Given the description of an element on the screen output the (x, y) to click on. 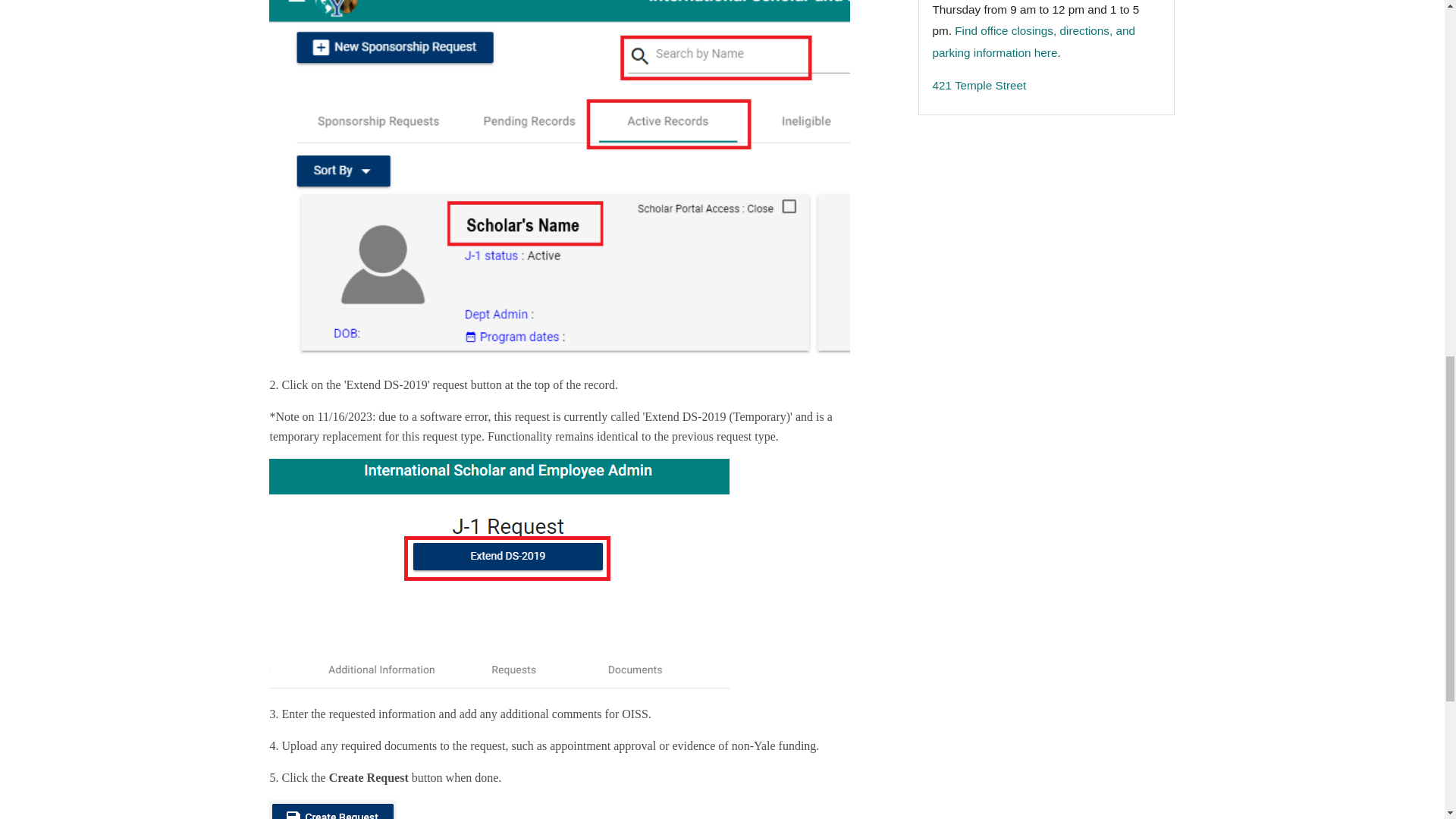
421 Temple Street (978, 84)
